Given the description of an element on the screen output the (x, y) to click on. 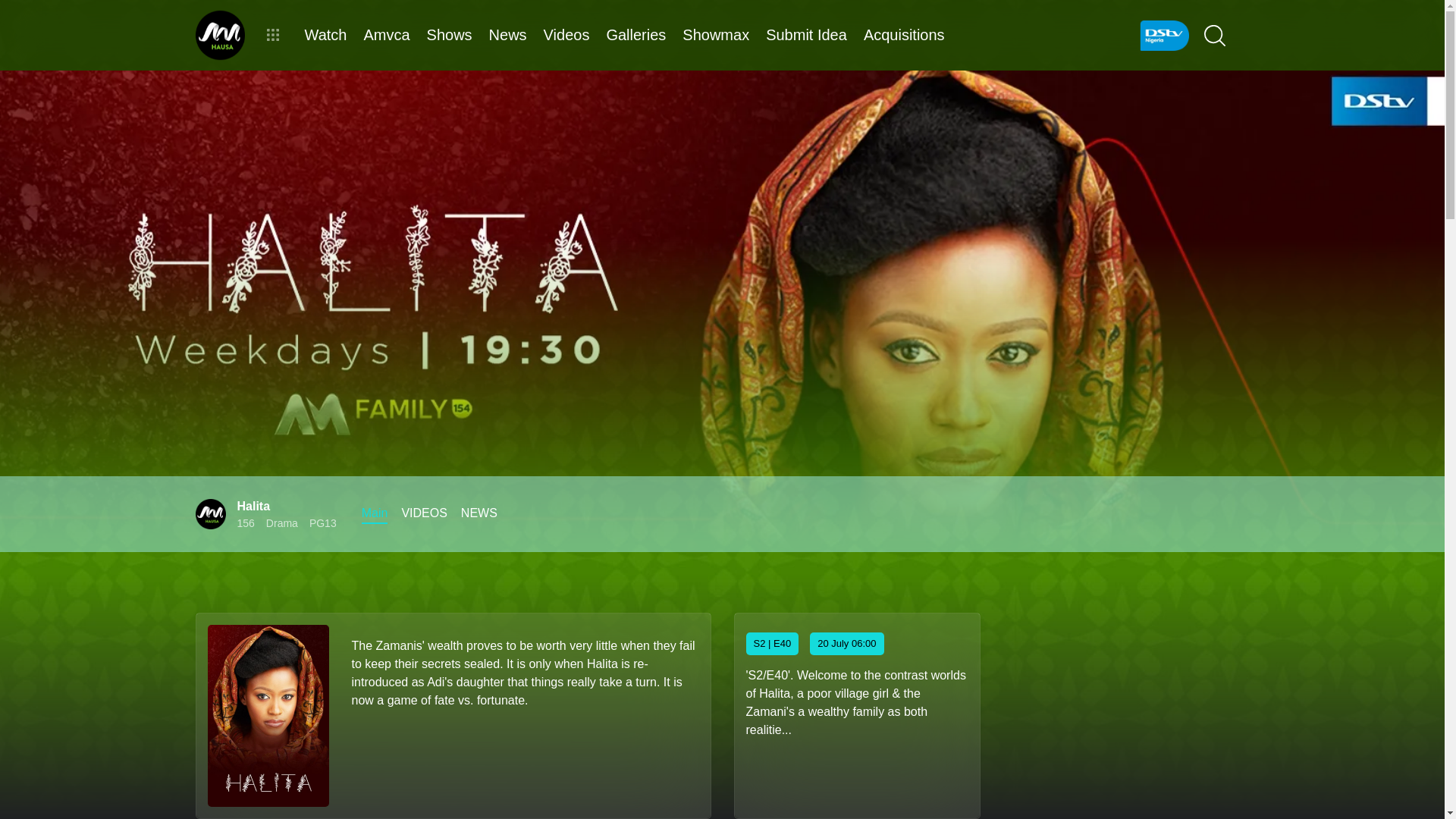
Main (374, 514)
NEWS (479, 514)
VIDEOS (423, 514)
